Given the description of an element on the screen output the (x, y) to click on. 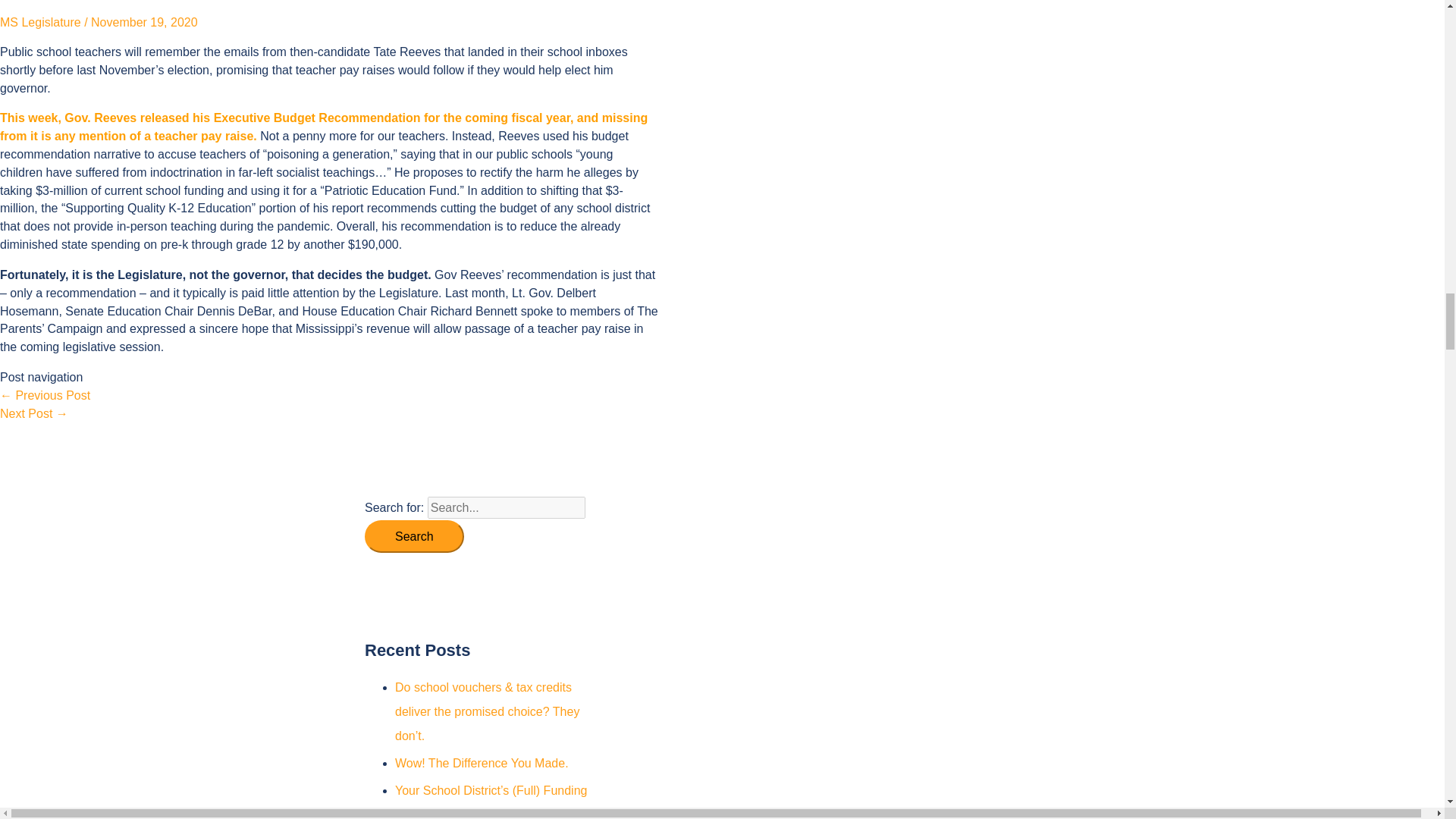
Search (414, 536)
Year-round School Hearing at 1 p.m. Monday (45, 395)
Our Hope for a Better Tomorrow (34, 413)
Search (414, 536)
